Given the description of an element on the screen output the (x, y) to click on. 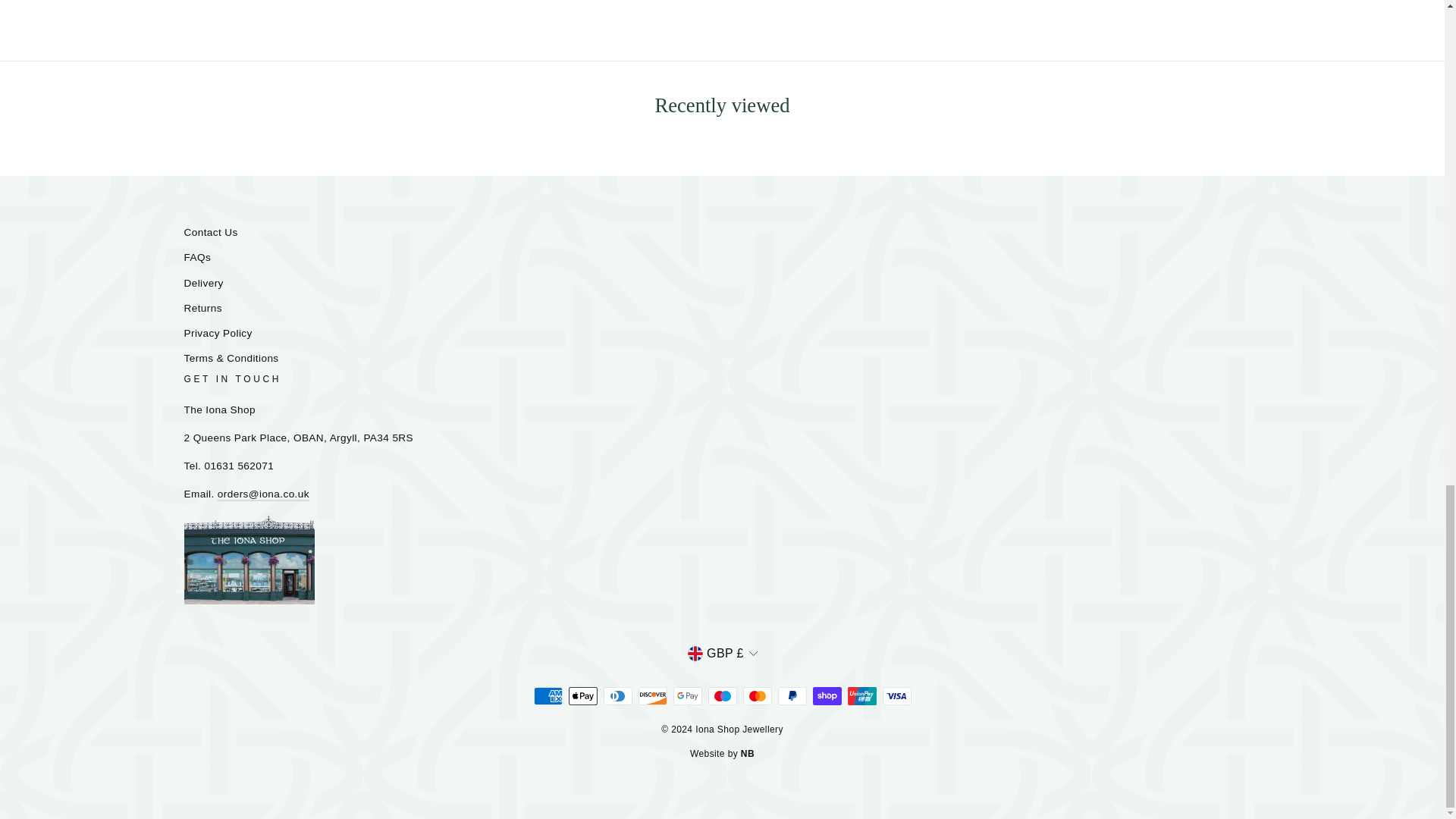
Union Pay (861, 696)
Diners Club (617, 696)
Google Pay (686, 696)
Shop Pay (826, 696)
Apple Pay (582, 696)
PayPal (791, 696)
Mastercard (756, 696)
Discover (652, 696)
Maestro (721, 696)
American Express (548, 696)
Visa (896, 696)
